Given the description of an element on the screen output the (x, y) to click on. 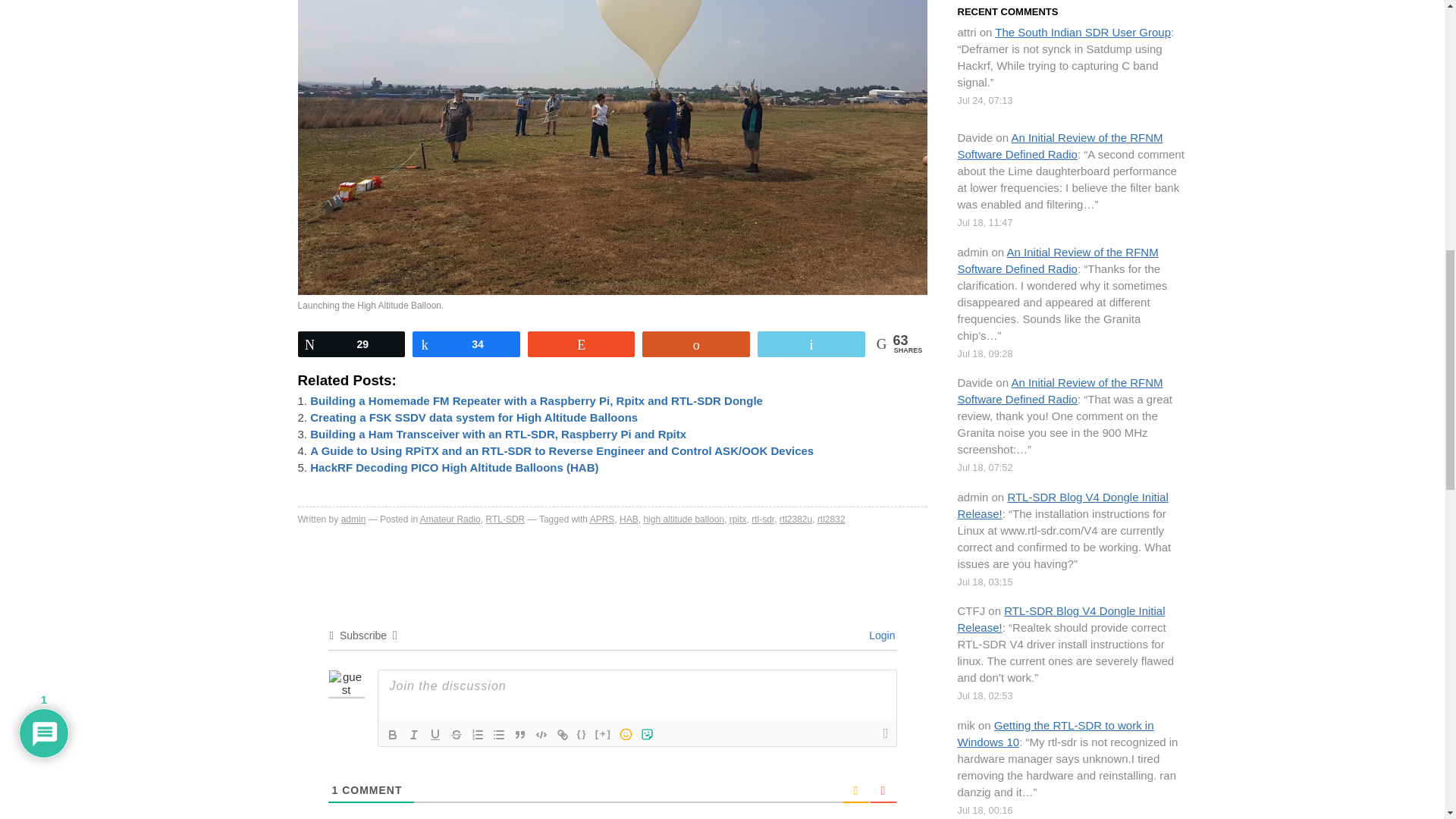
Blockquote (520, 733)
Source Code (582, 733)
Ordered List (477, 733)
Creating a FSK SSDV data system for High Altitude Balloons (473, 417)
Code Block (541, 733)
Underline (435, 733)
Unordered List (498, 733)
Italic (414, 733)
Bold (392, 733)
Strike (456, 733)
Link (562, 733)
Posts by admin (353, 519)
